Given the description of an element on the screen output the (x, y) to click on. 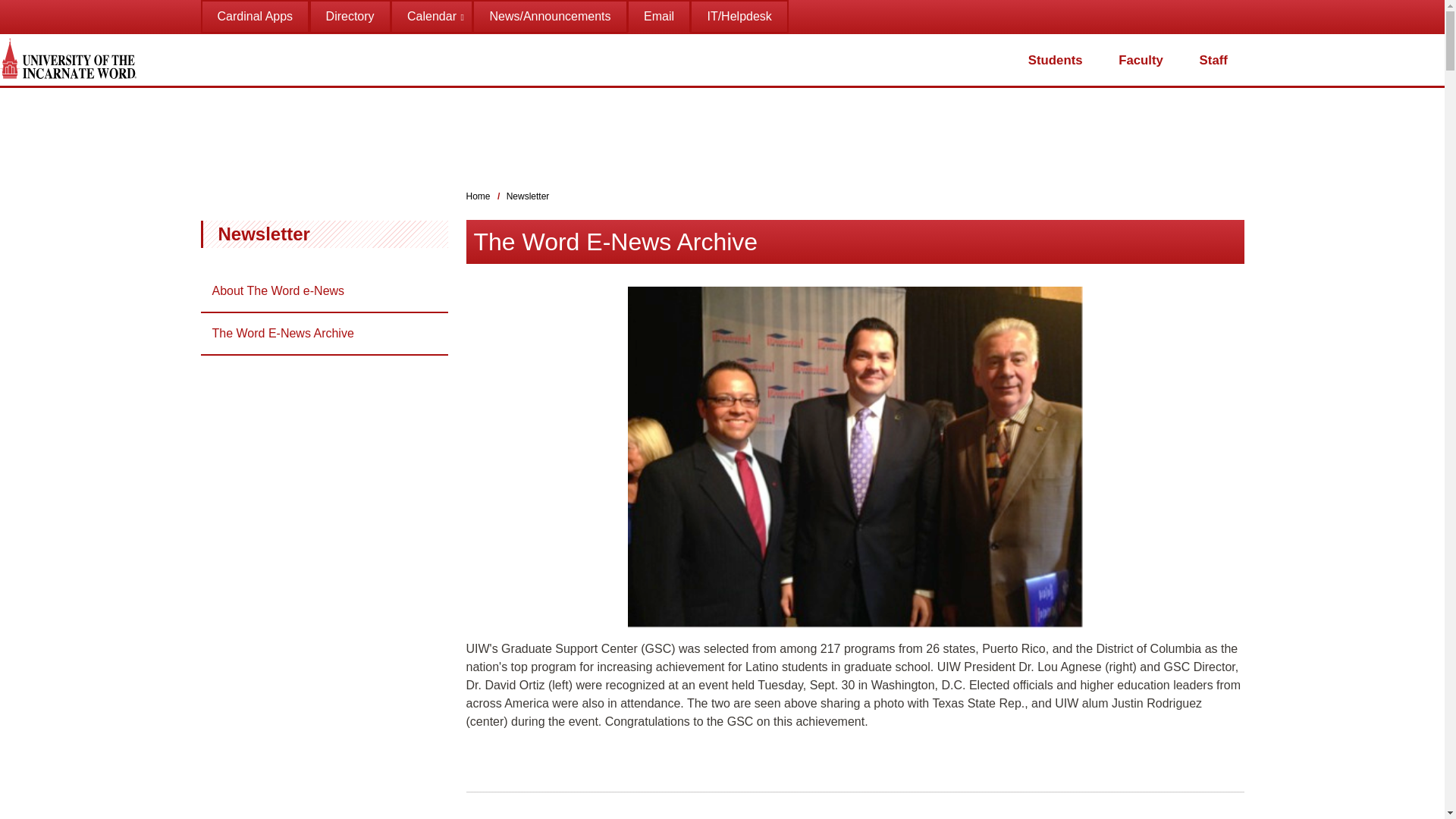
Newsletter (264, 233)
Students (1055, 59)
Newsletter (528, 195)
About The Word e-News (323, 291)
The Word E-News Archive (323, 332)
Email (658, 16)
Cardinal Apps (254, 16)
Calendar (431, 16)
Directory (350, 16)
Staff (1212, 59)
Home (477, 195)
Faculty (1140, 59)
